Given the description of an element on the screen output the (x, y) to click on. 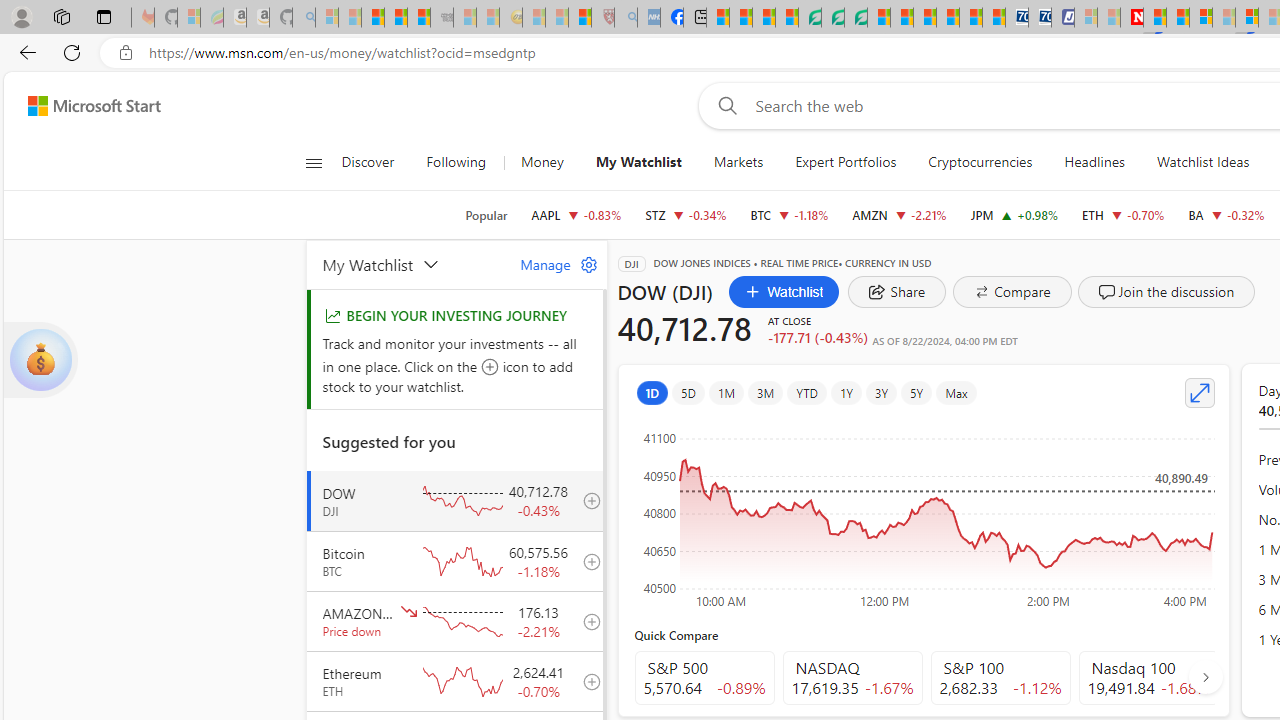
Watchlist Ideas (1202, 162)
My Watchlist (638, 162)
Latest Politics News & Archive | Newsweek.com (1132, 17)
Class: recharts-surface (923, 513)
Manage (551, 264)
show card (40, 359)
ETH Ethereum decrease 2,624.41 -18.32 -0.70% (1123, 214)
